Given the description of an element on the screen output the (x, y) to click on. 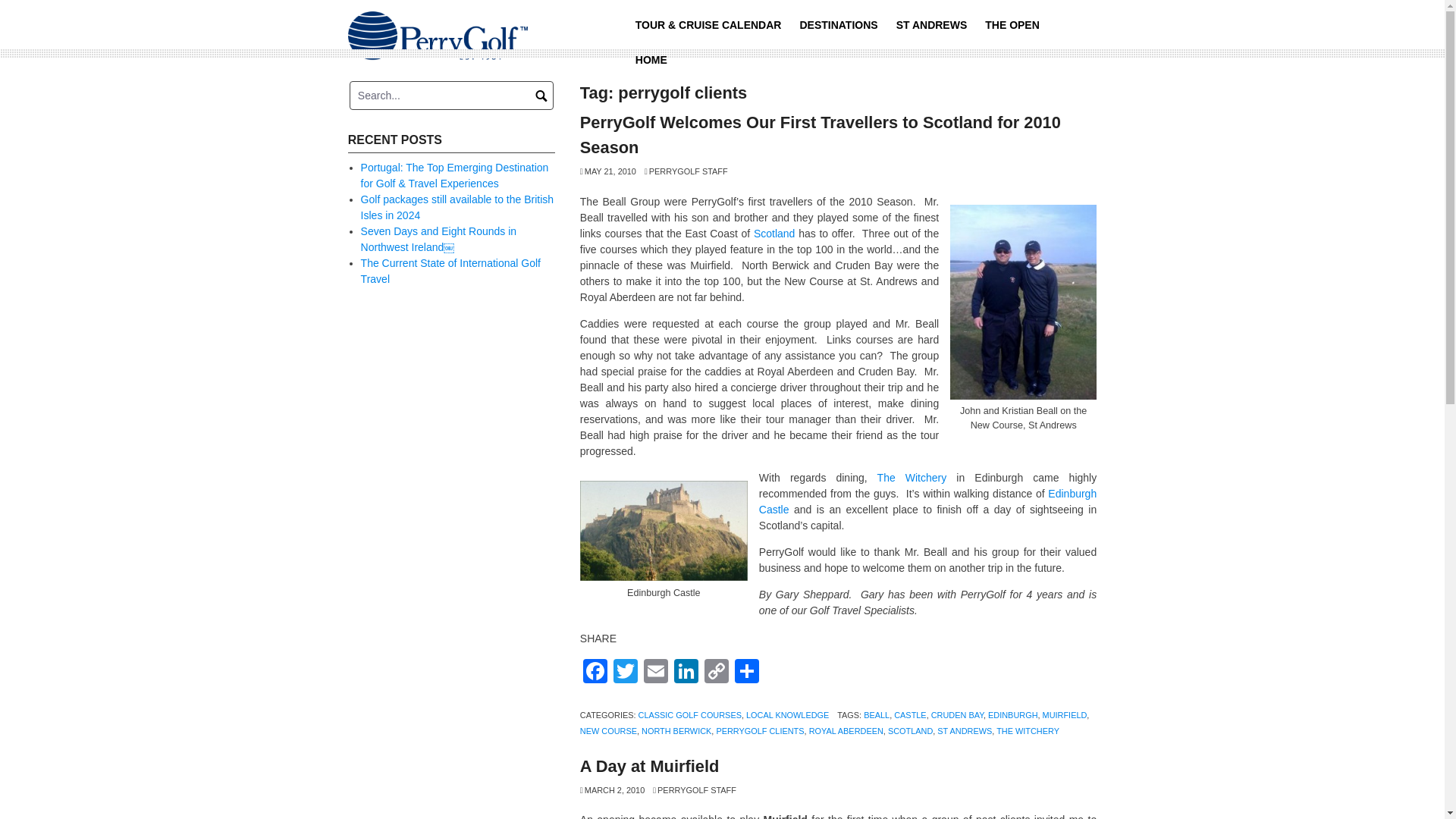
DESTINATIONS (838, 24)
PERRYGOLF STAFF (694, 789)
Email (655, 673)
NEW COURSE (608, 730)
The Witchery (912, 477)
Twitter (625, 673)
LinkedIn (686, 673)
PERRYGOLF STAFF (686, 171)
A Day at Muirfield (649, 765)
MAY 21, 2010 (607, 171)
